Given the description of an element on the screen output the (x, y) to click on. 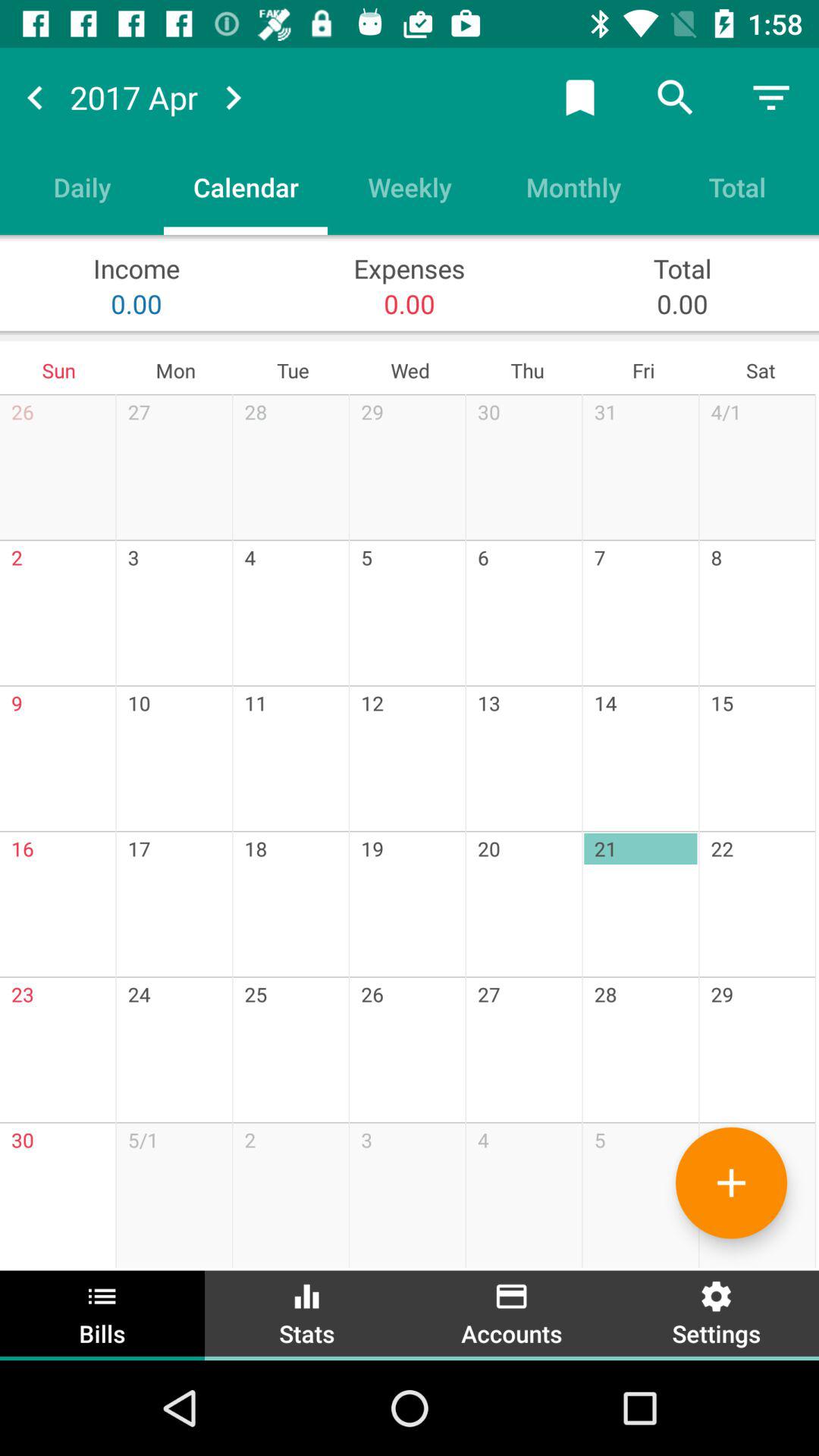
turn on item next to total icon (573, 186)
